Given the description of an element on the screen output the (x, y) to click on. 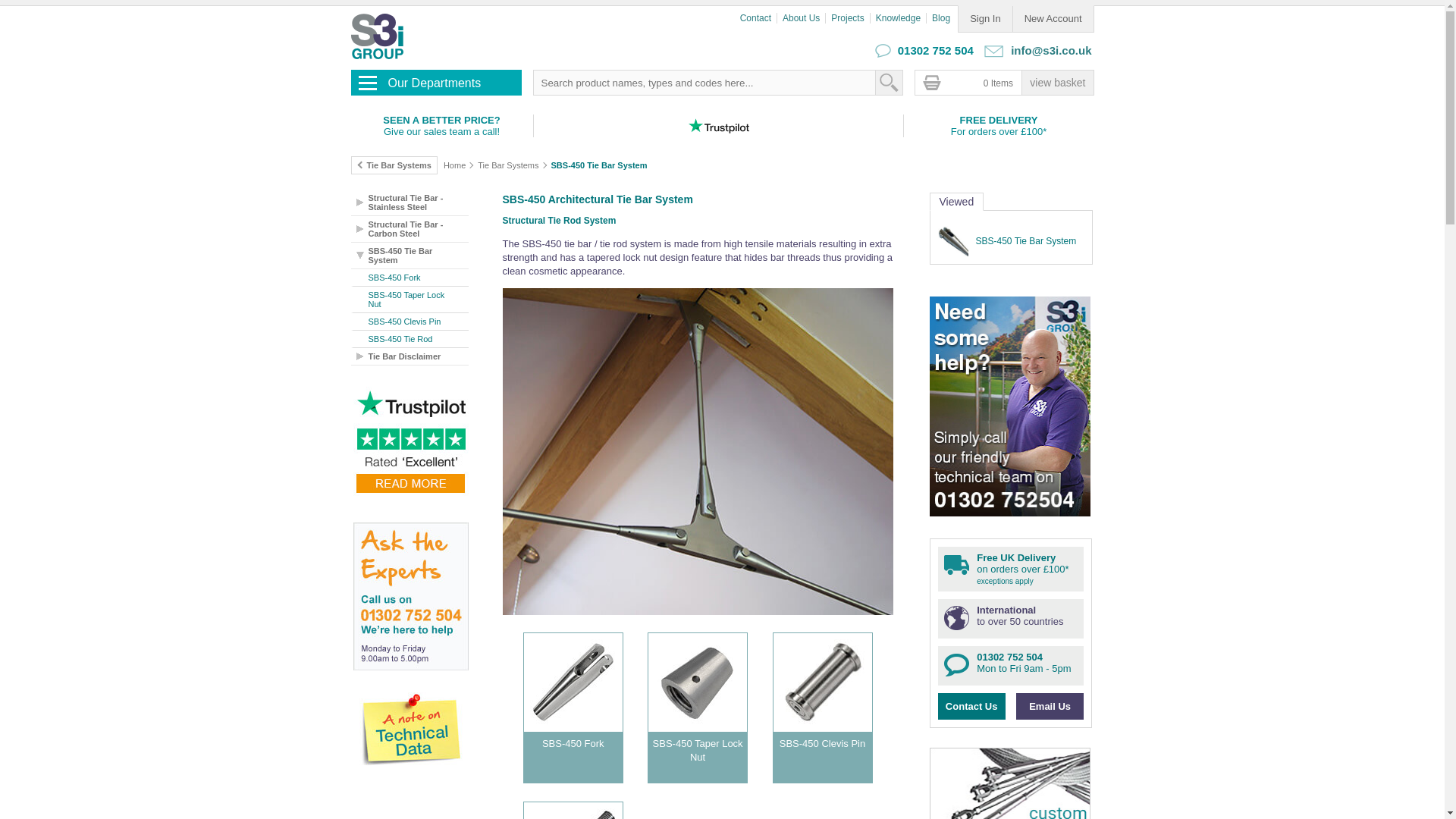
Sign In (984, 18)
Projects (850, 18)
About Us (804, 18)
Create a new account (1053, 18)
Go (888, 82)
Blog (943, 18)
Go (888, 82)
Contact (758, 18)
Telephone: 01302 752 504 (883, 51)
Send us an email (994, 51)
Please click here to send an email (1048, 50)
View Basket (1057, 82)
Knowledge (901, 18)
Sign in to my existing account (984, 18)
